Given the description of an element on the screen output the (x, y) to click on. 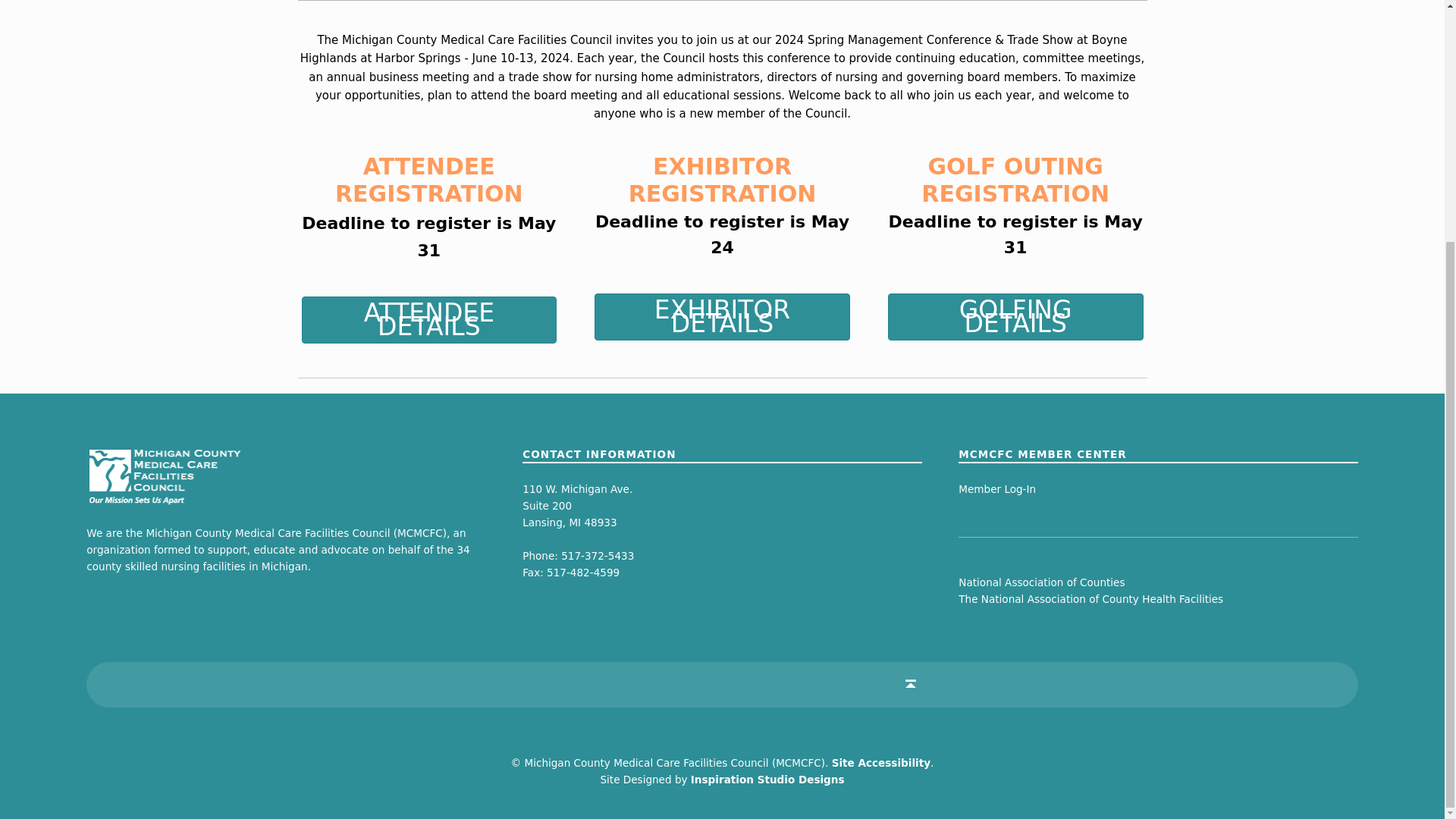
MCMCFC on Facebook (527, 684)
GOLFING DETAILS (1015, 316)
EXHIBITOR DETAILS (722, 316)
Inspiration Studio Designs (767, 779)
Site Accessibility (880, 762)
National Association of Counties (1041, 582)
The National Association of County Health Facilities (1090, 598)
ATTENDEE DETAILS (429, 319)
Back to top (909, 684)
